Given the description of an element on the screen output the (x, y) to click on. 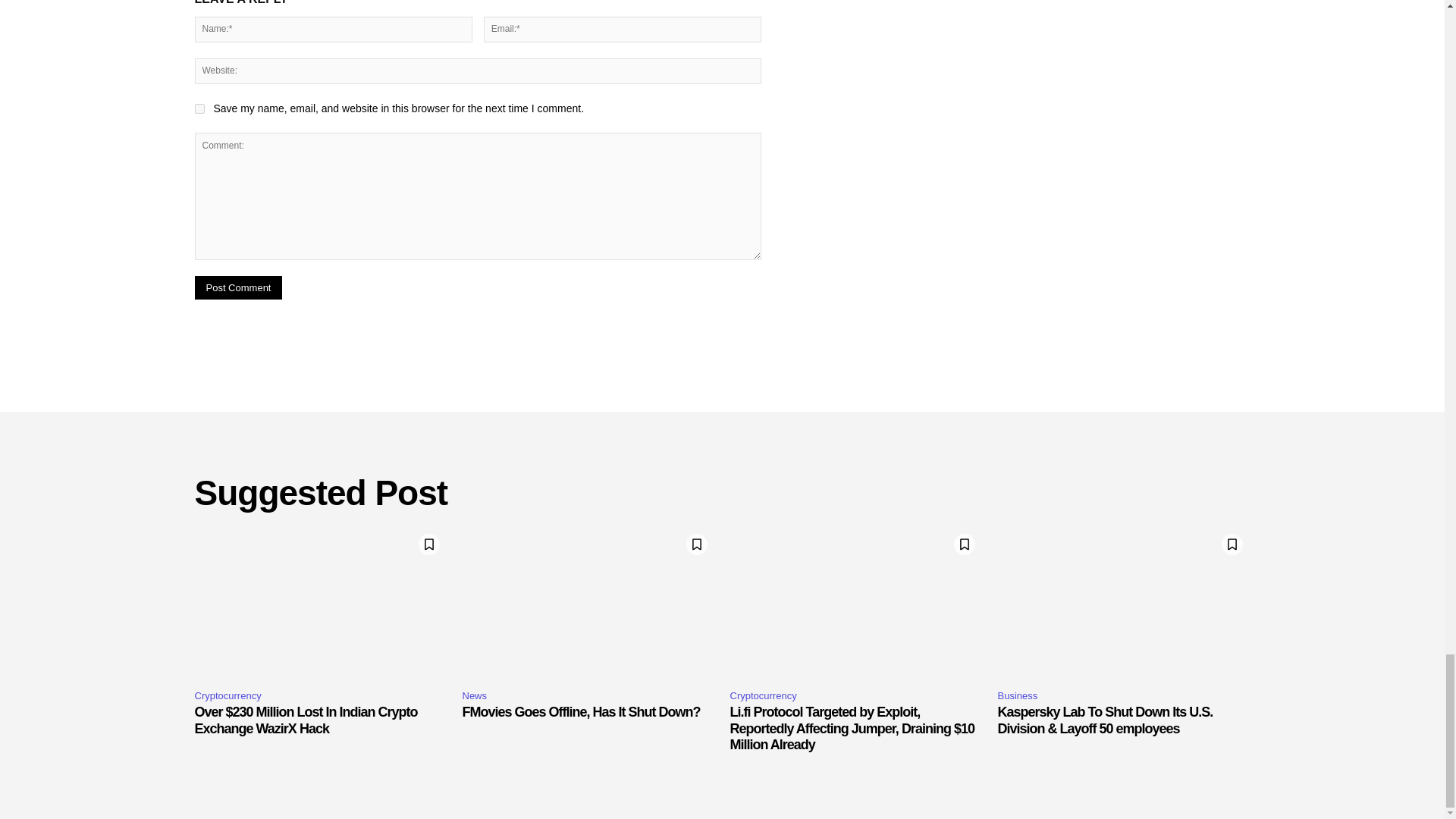
Post Comment (237, 287)
yes (198, 108)
Post Comment (237, 287)
